Given the description of an element on the screen output the (x, y) to click on. 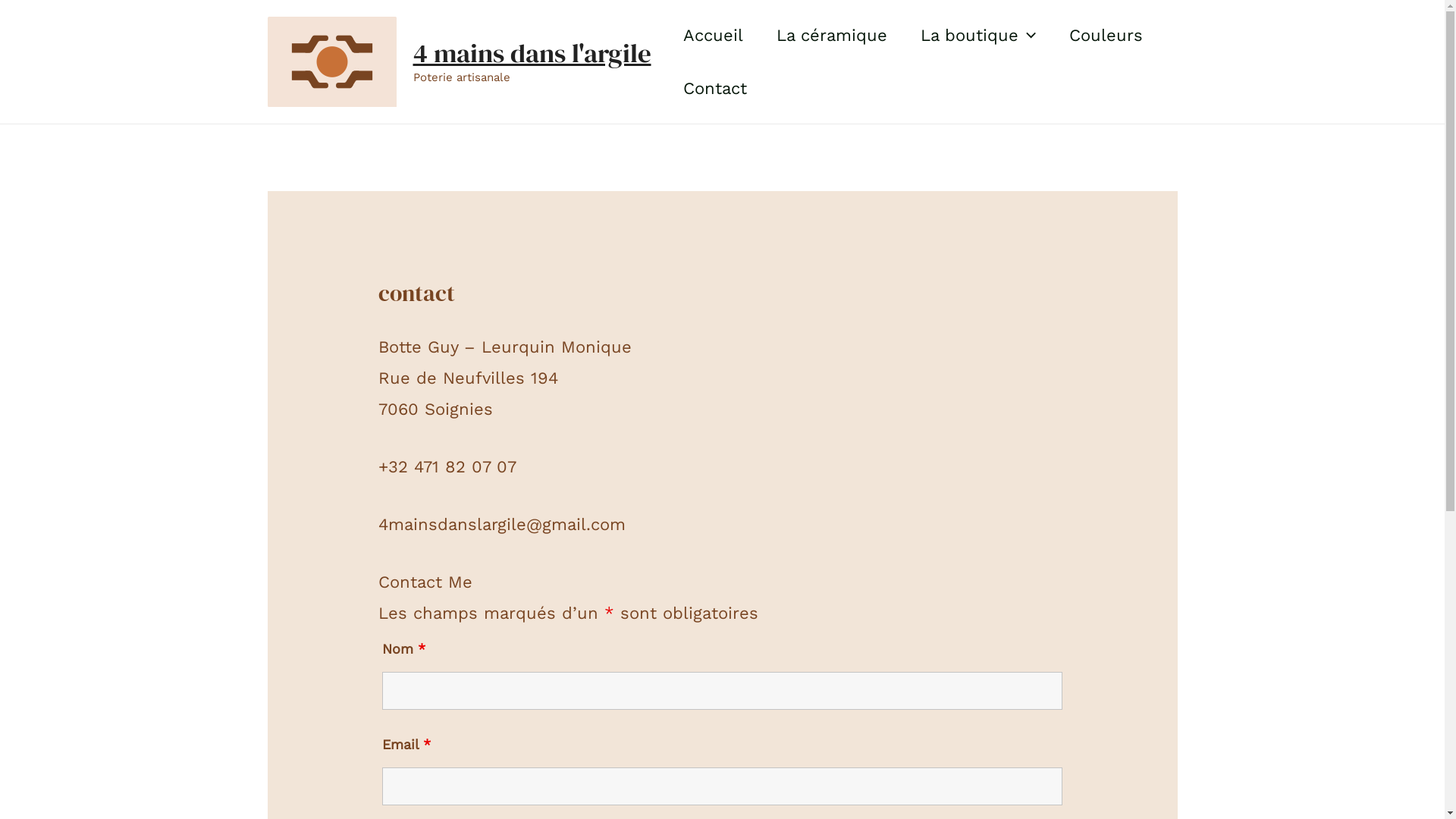
Couleurs Element type: text (1105, 35)
4 mains dans l'argile Element type: text (531, 52)
Accueil Element type: text (712, 35)
La boutique Element type: text (977, 35)
Contact Element type: text (713, 88)
